Given the description of an element on the screen output the (x, y) to click on. 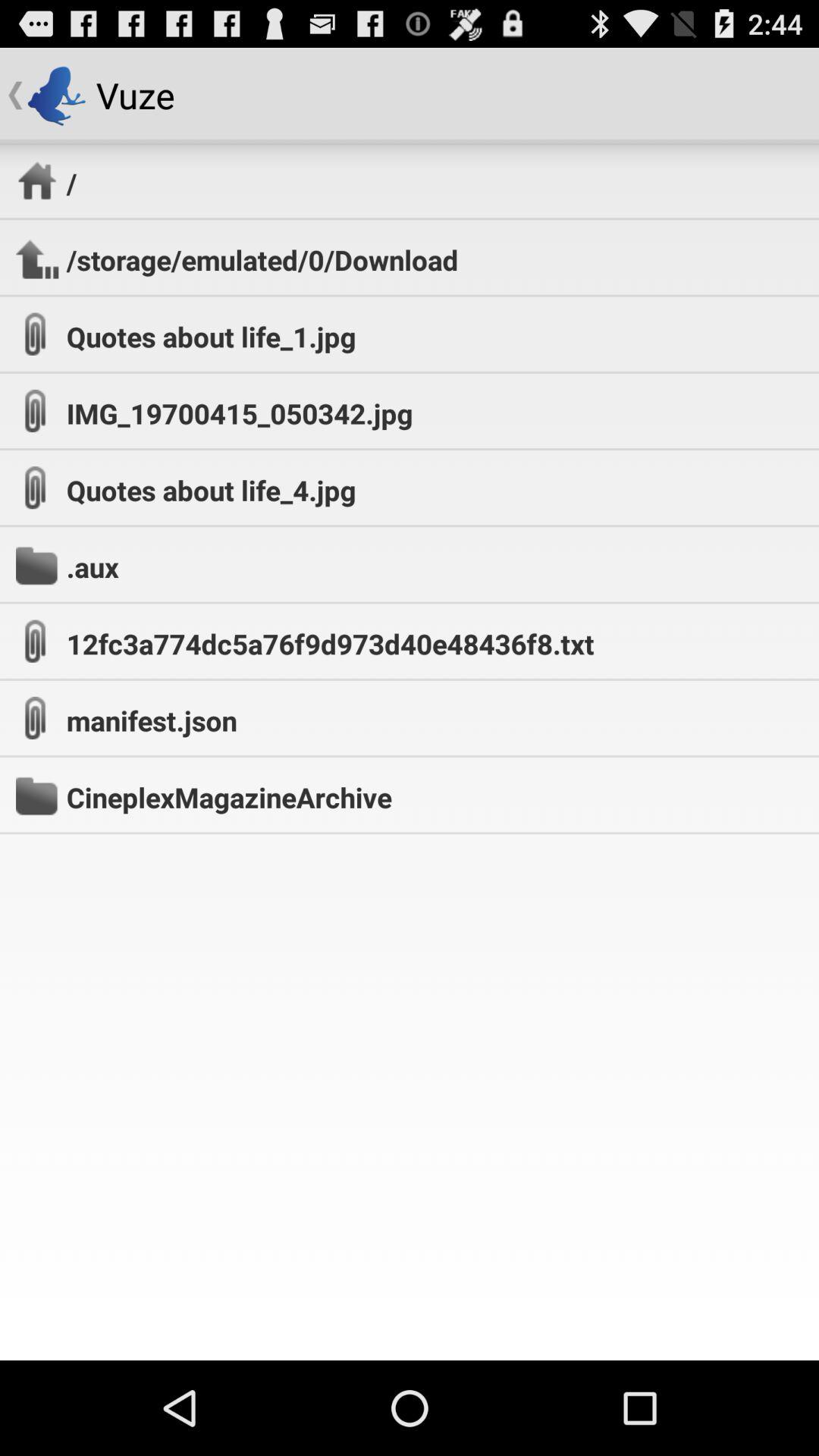
choose the img_19700415_050342.jpg app (239, 413)
